Given the description of an element on the screen output the (x, y) to click on. 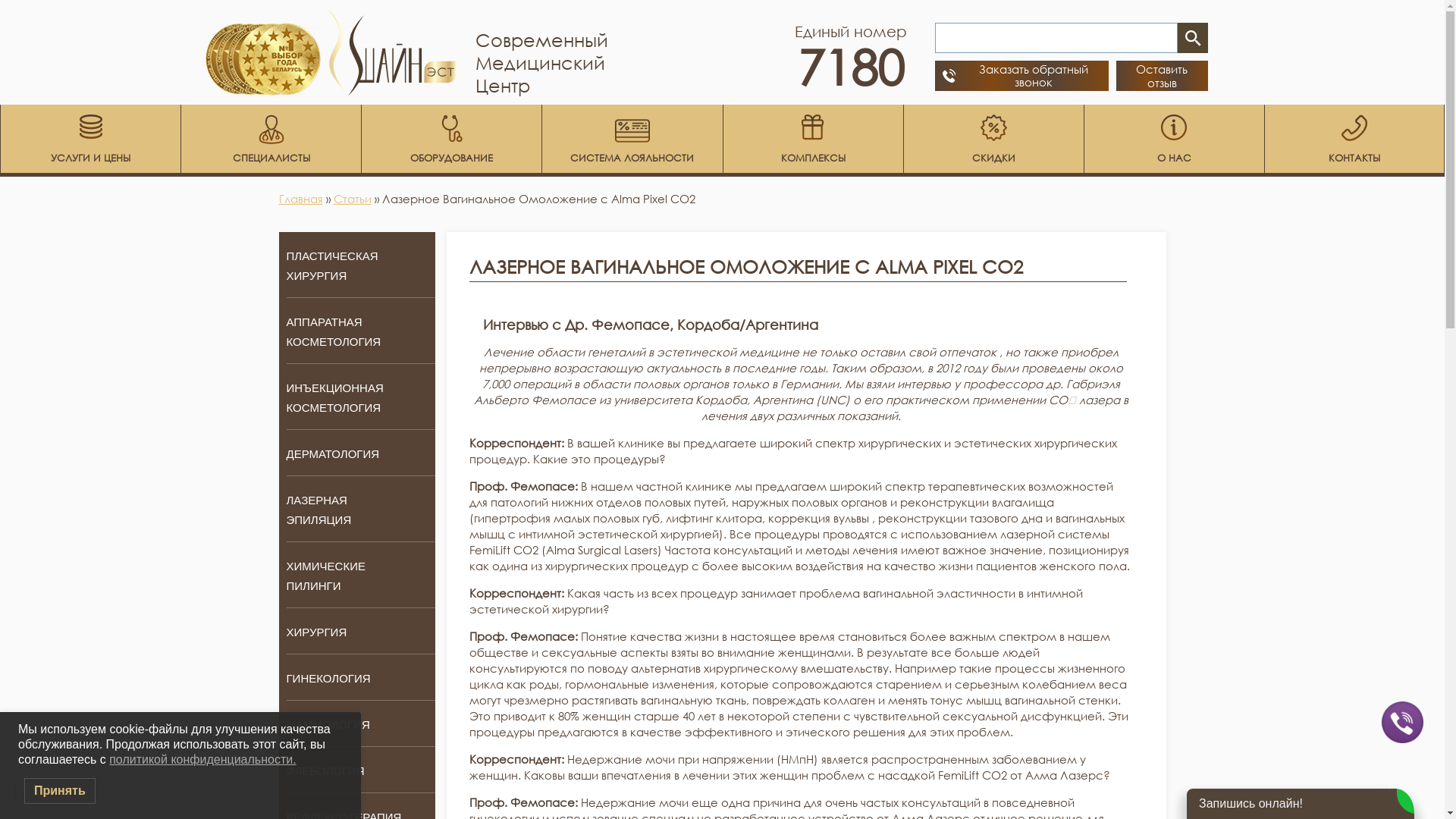
7180 Element type: text (850, 66)
^ Element type: text (26, 792)
